Given the description of an element on the screen output the (x, y) to click on. 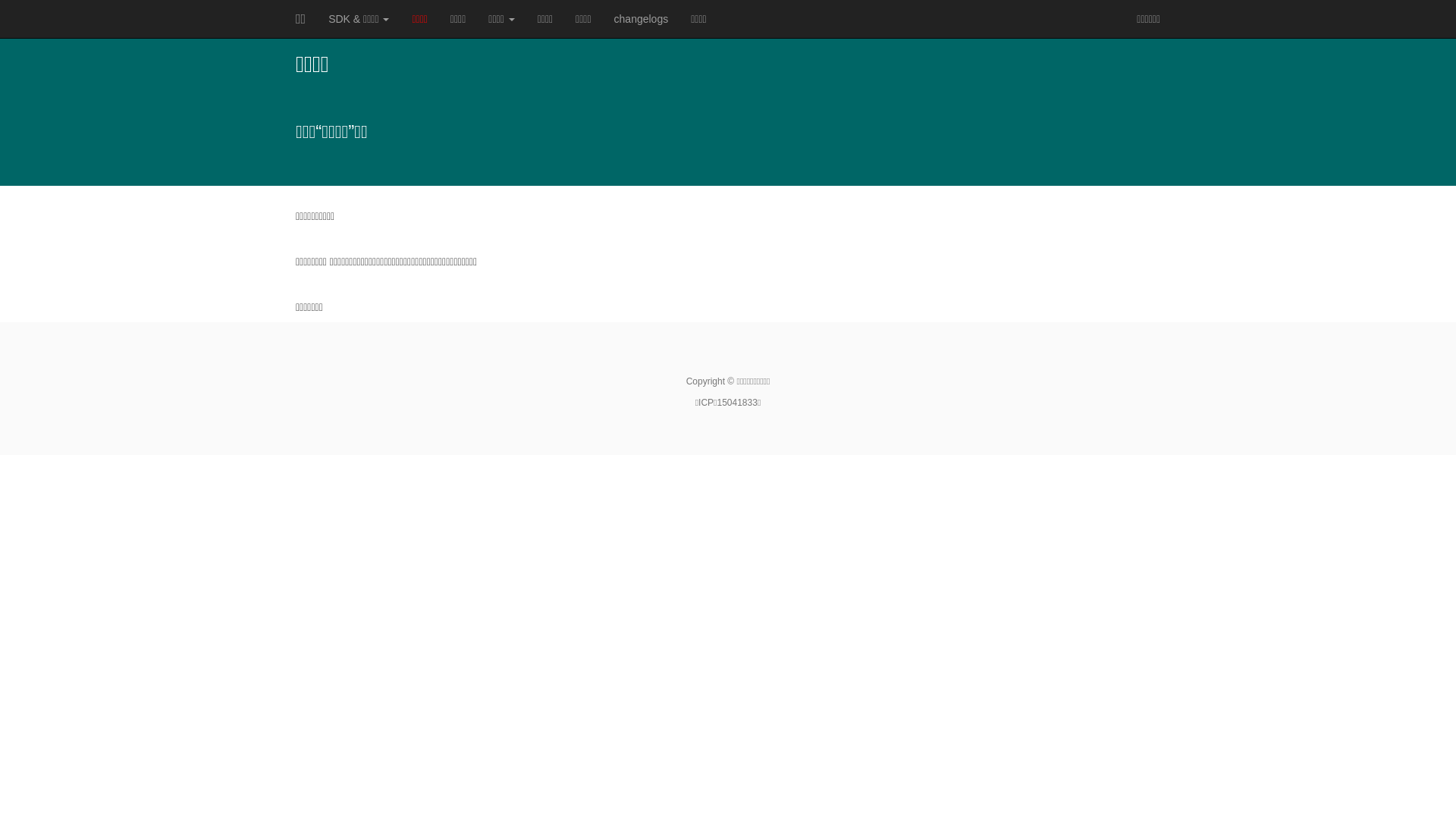
changelogs Element type: text (641, 18)
